Given the description of an element on the screen output the (x, y) to click on. 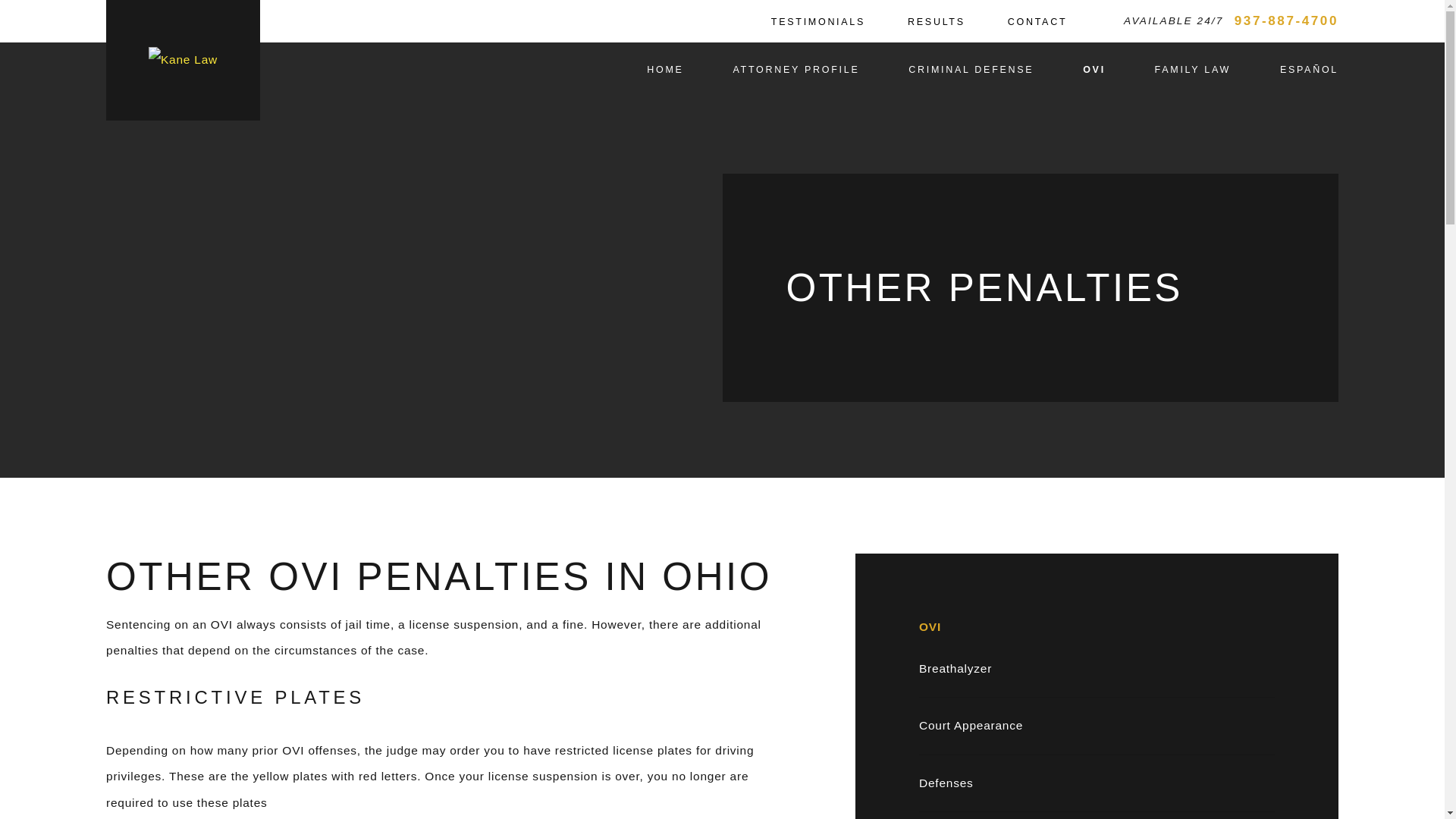
CONTACT (1037, 21)
RESULTS (936, 21)
937-887-4700 (1286, 21)
Kane Law (182, 59)
HOME (664, 69)
TESTIMONIALS (817, 21)
Open the accessibility options menu (31, 786)
ATTORNEY PROFILE (795, 69)
CRIMINAL DEFENSE (970, 69)
